Given the description of an element on the screen output the (x, y) to click on. 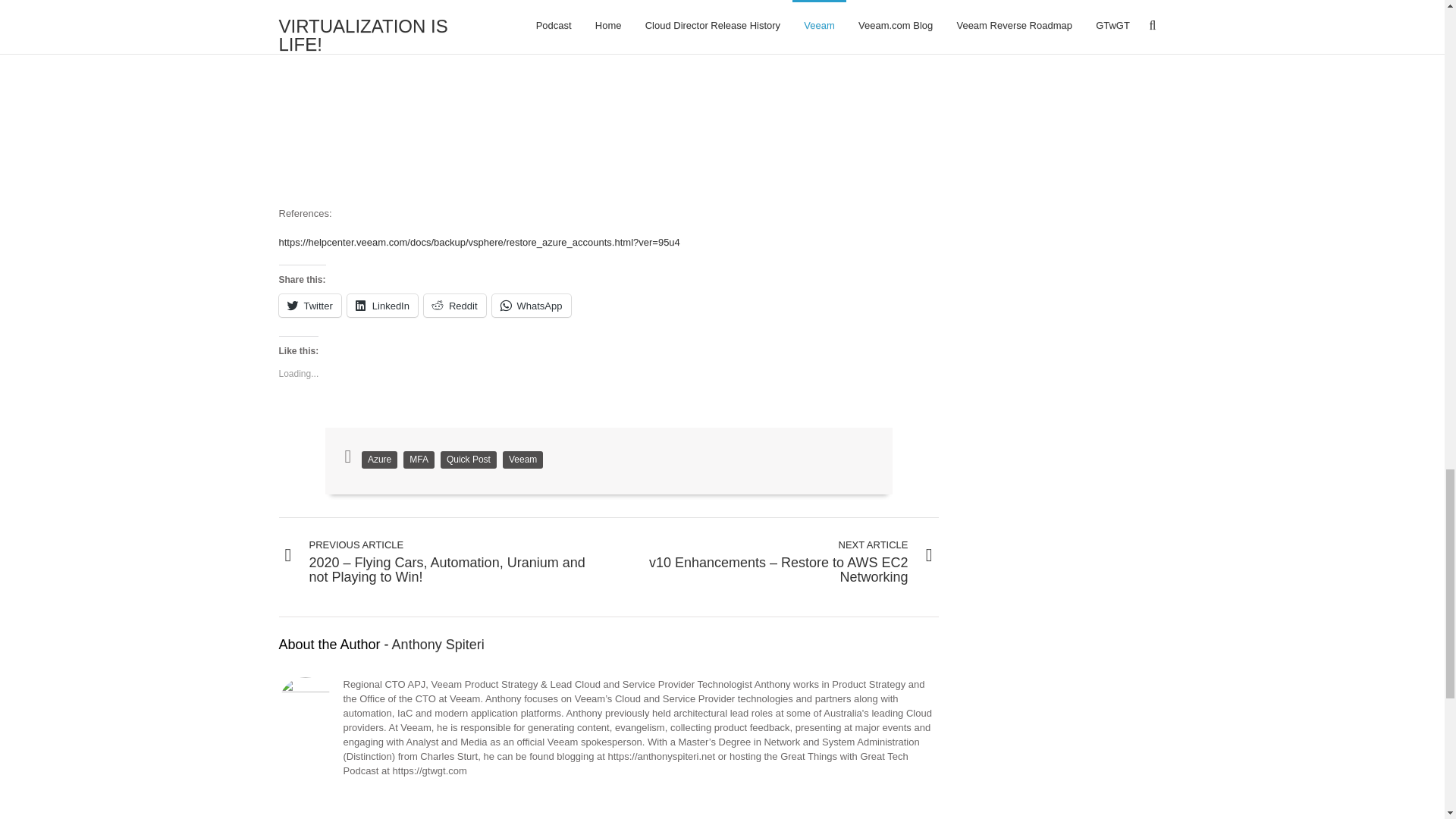
Quick Post (468, 459)
Click to share on Reddit (454, 305)
MFA (418, 459)
Posts by Anthony Spiteri (437, 644)
Click to share on Twitter (309, 305)
Click to share on WhatsApp (531, 305)
Twitter (309, 305)
Reddit (454, 305)
Azure (379, 459)
Click to share on LinkedIn (382, 305)
LinkedIn (382, 305)
Veeam (522, 459)
WhatsApp (531, 305)
